Given the description of an element on the screen output the (x, y) to click on. 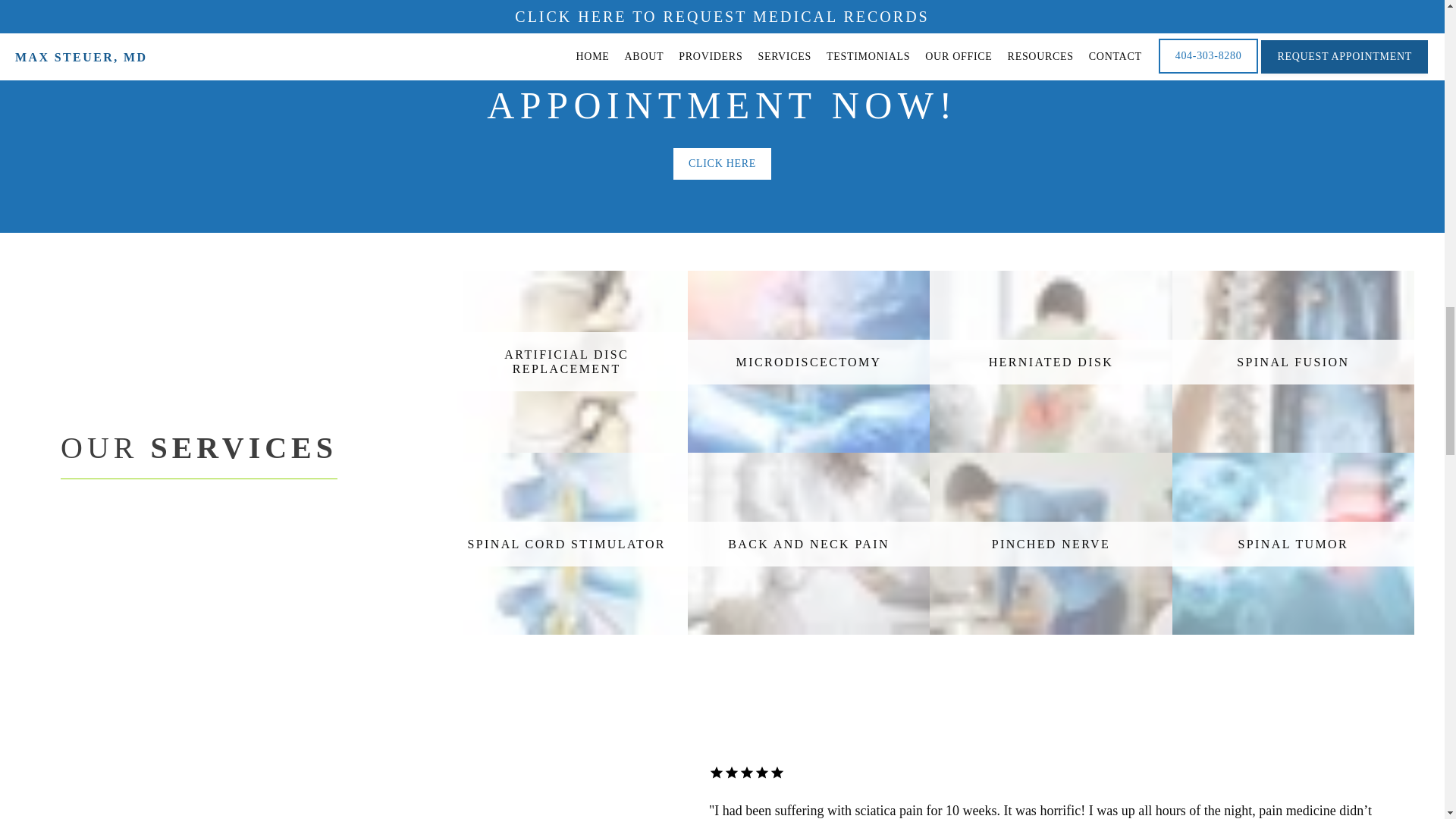
ARTIFICIAL DISC REPLACEMENT (565, 361)
MICRODISCECTOMY (808, 361)
CLICK HERE (722, 165)
HERNIATED DISK (1050, 361)
SPINAL FUSION (1292, 361)
